Given the description of an element on the screen output the (x, y) to click on. 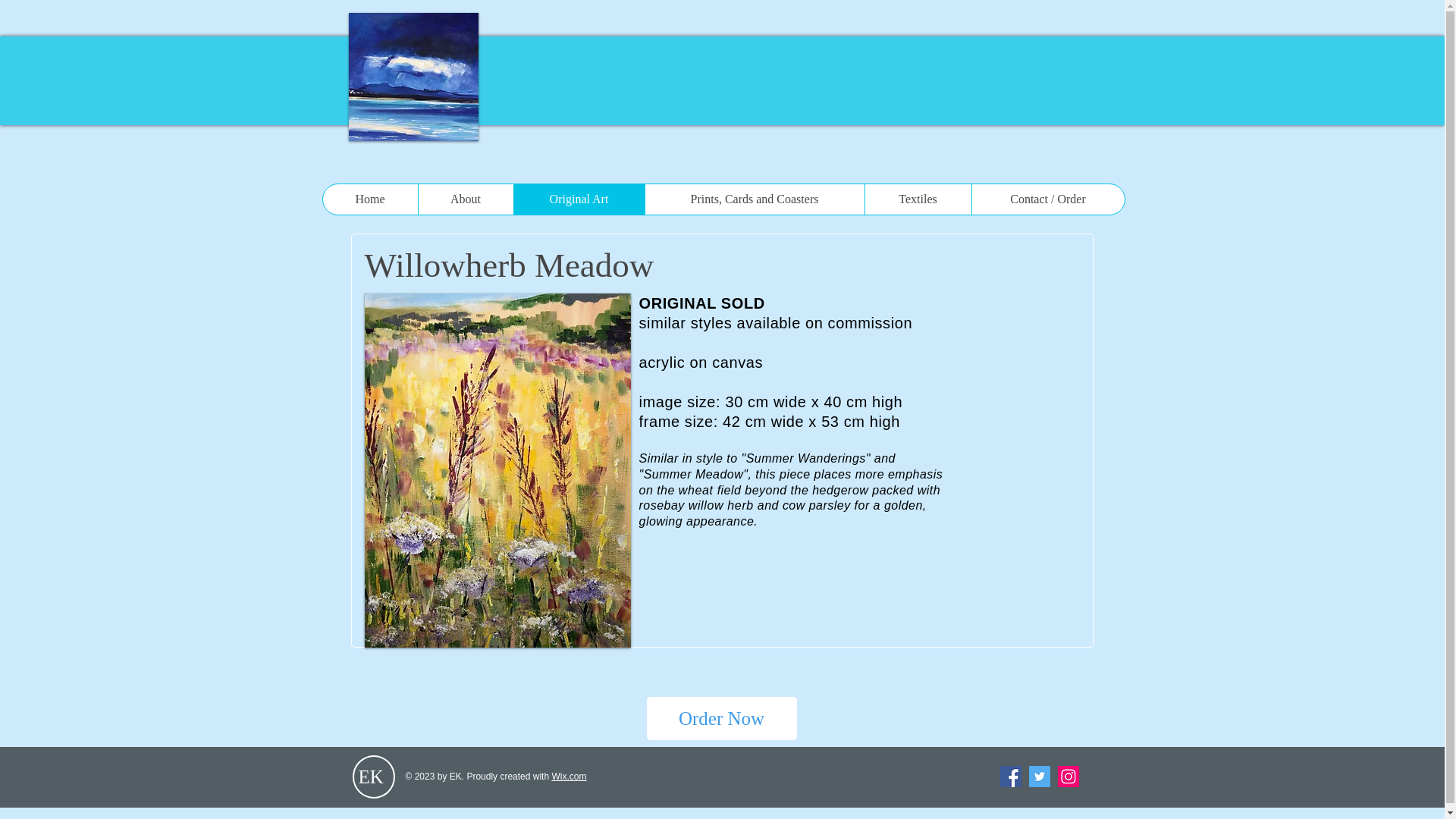
Textiles (917, 199)
Original Art (577, 199)
Prints, Cards and Coasters (754, 199)
About (464, 199)
Home (370, 199)
